Given the description of an element on the screen output the (x, y) to click on. 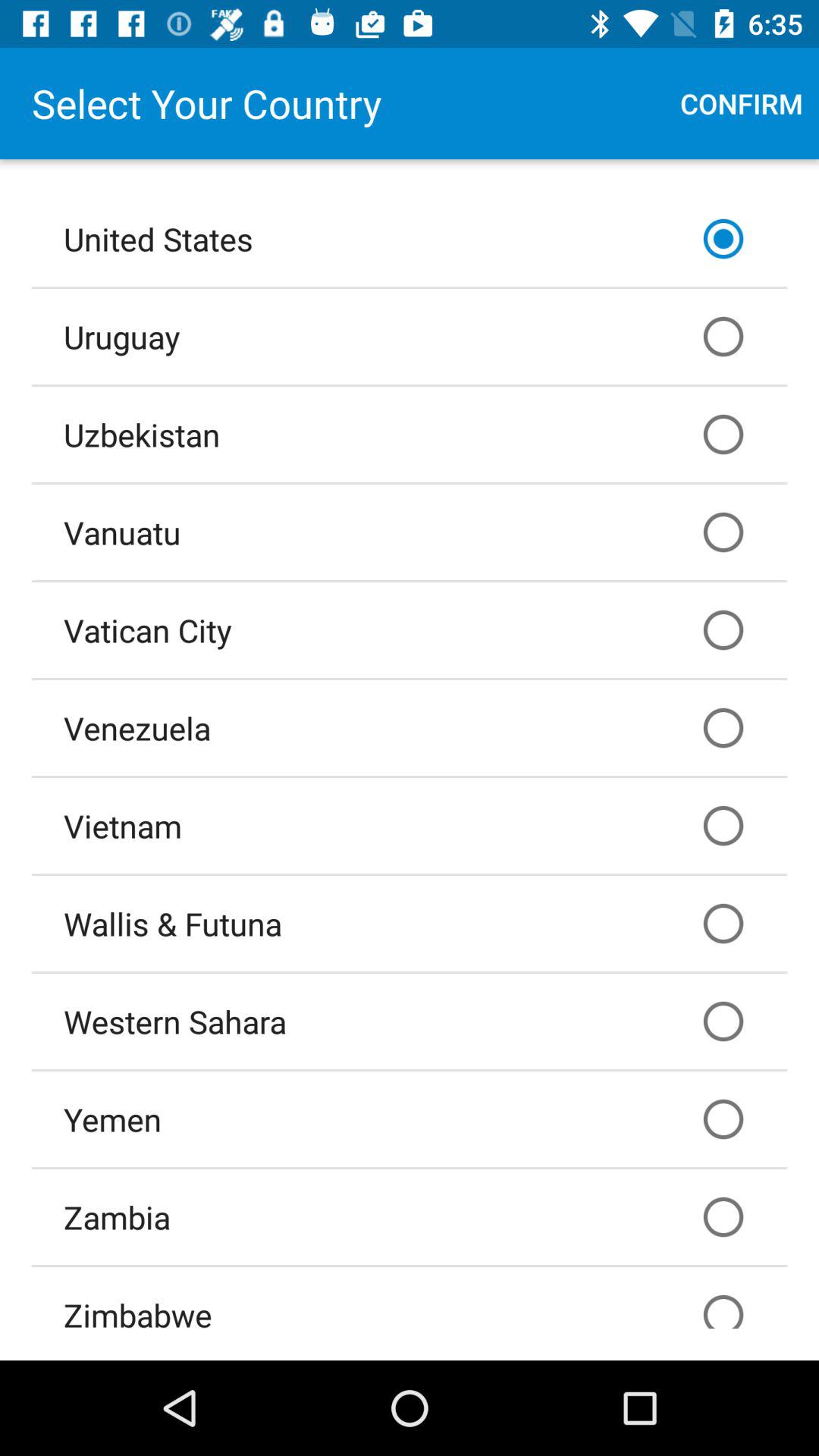
turn on the icon below the uzbekistan item (409, 532)
